Given the description of an element on the screen output the (x, y) to click on. 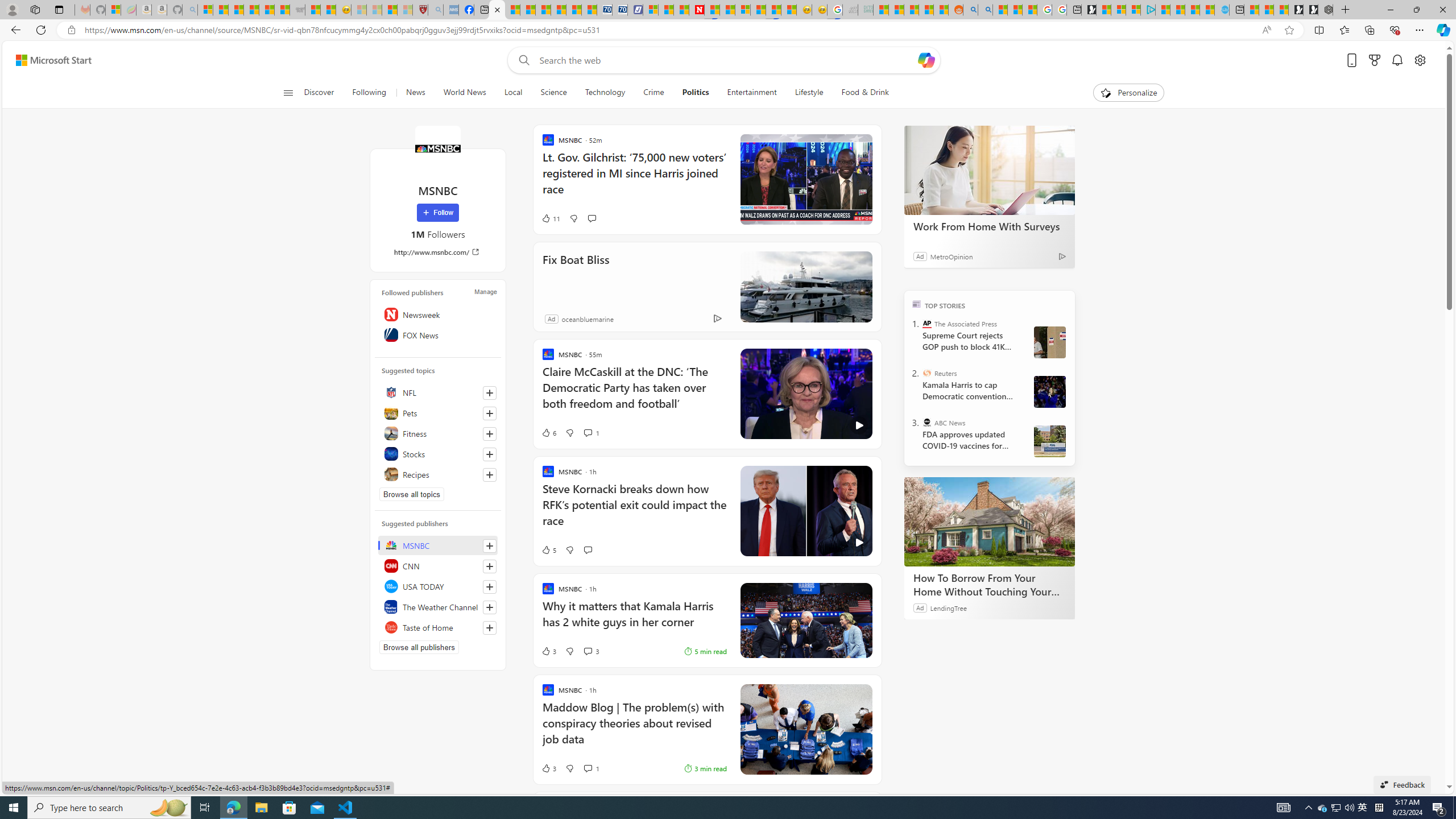
Open settings (1420, 60)
Lifestyle (808, 92)
Entertainment (751, 92)
Following (368, 92)
See more (864, 691)
Discover (323, 92)
Notifications (1397, 60)
Fix Boat Bliss (575, 274)
3 Like (547, 768)
Microsoft Start Gaming (1087, 9)
